Given the description of an element on the screen output the (x, y) to click on. 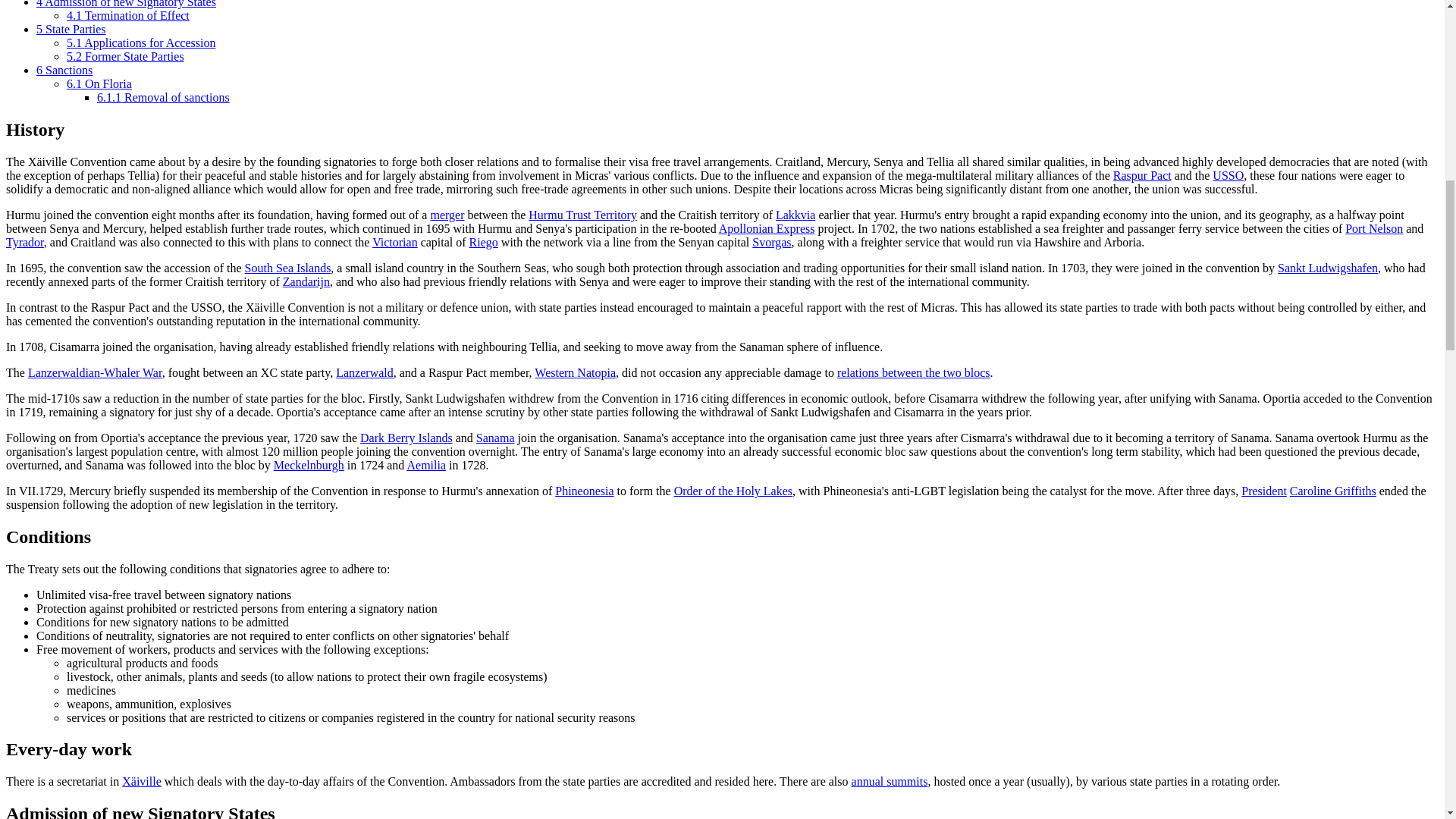
5 State Parties (71, 29)
4.1 Termination of Effect (127, 15)
4 Admission of new Signatory States (125, 4)
